Given the description of an element on the screen output the (x, y) to click on. 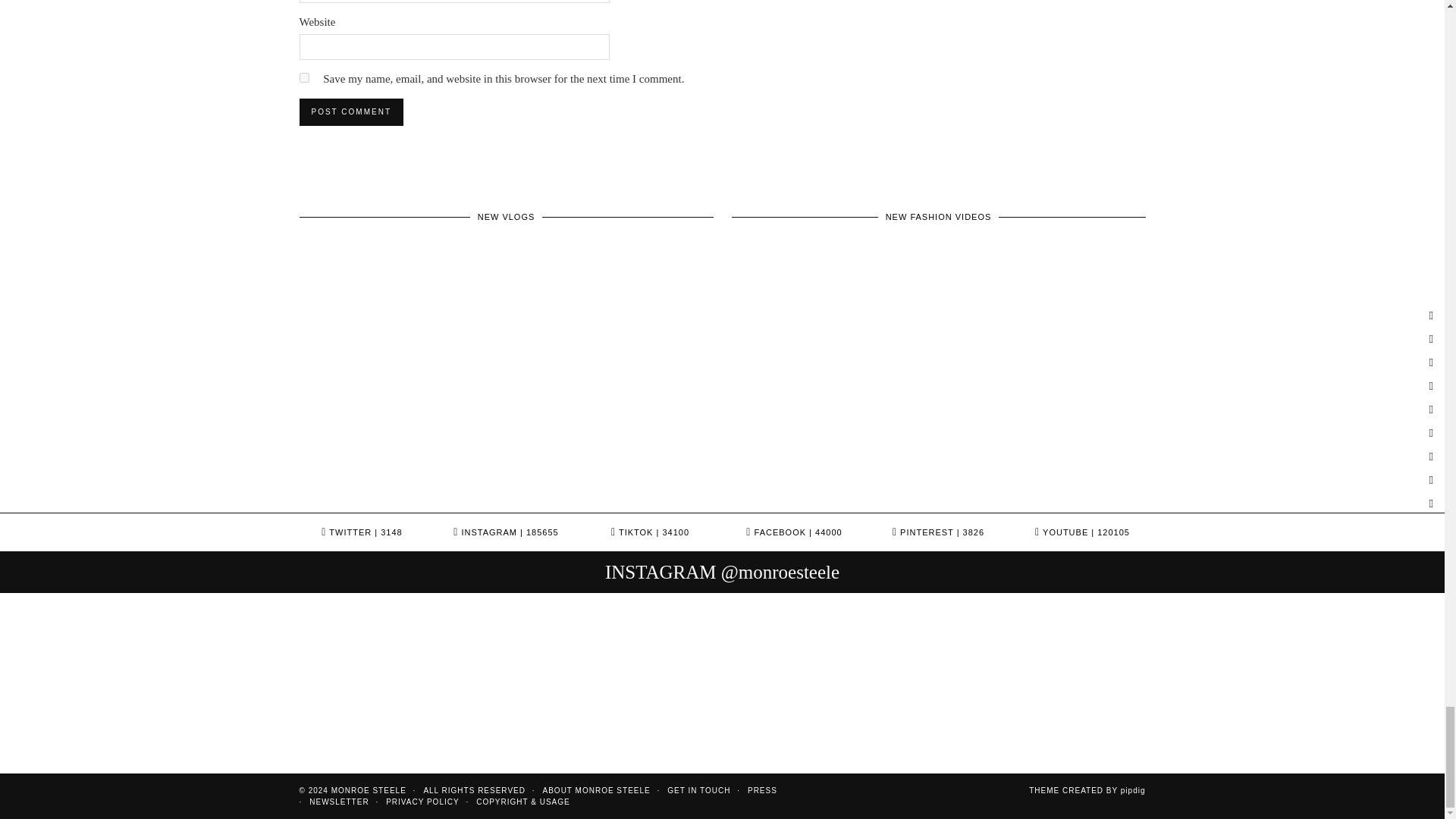
Post Comment (350, 112)
yes (303, 77)
